Given the description of an element on the screen output the (x, y) to click on. 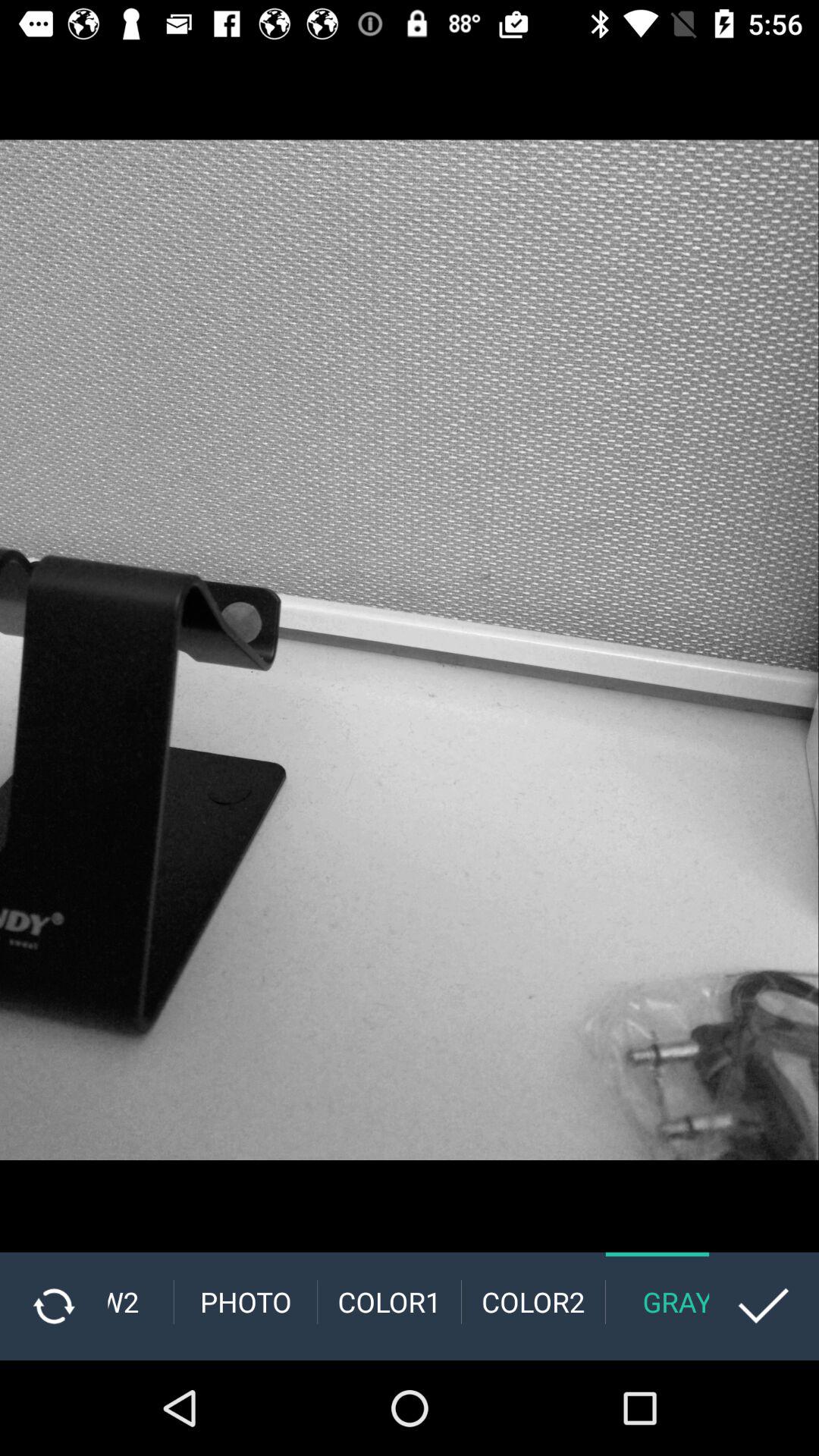
press the color2 radio button (533, 1301)
